Given the description of an element on the screen output the (x, y) to click on. 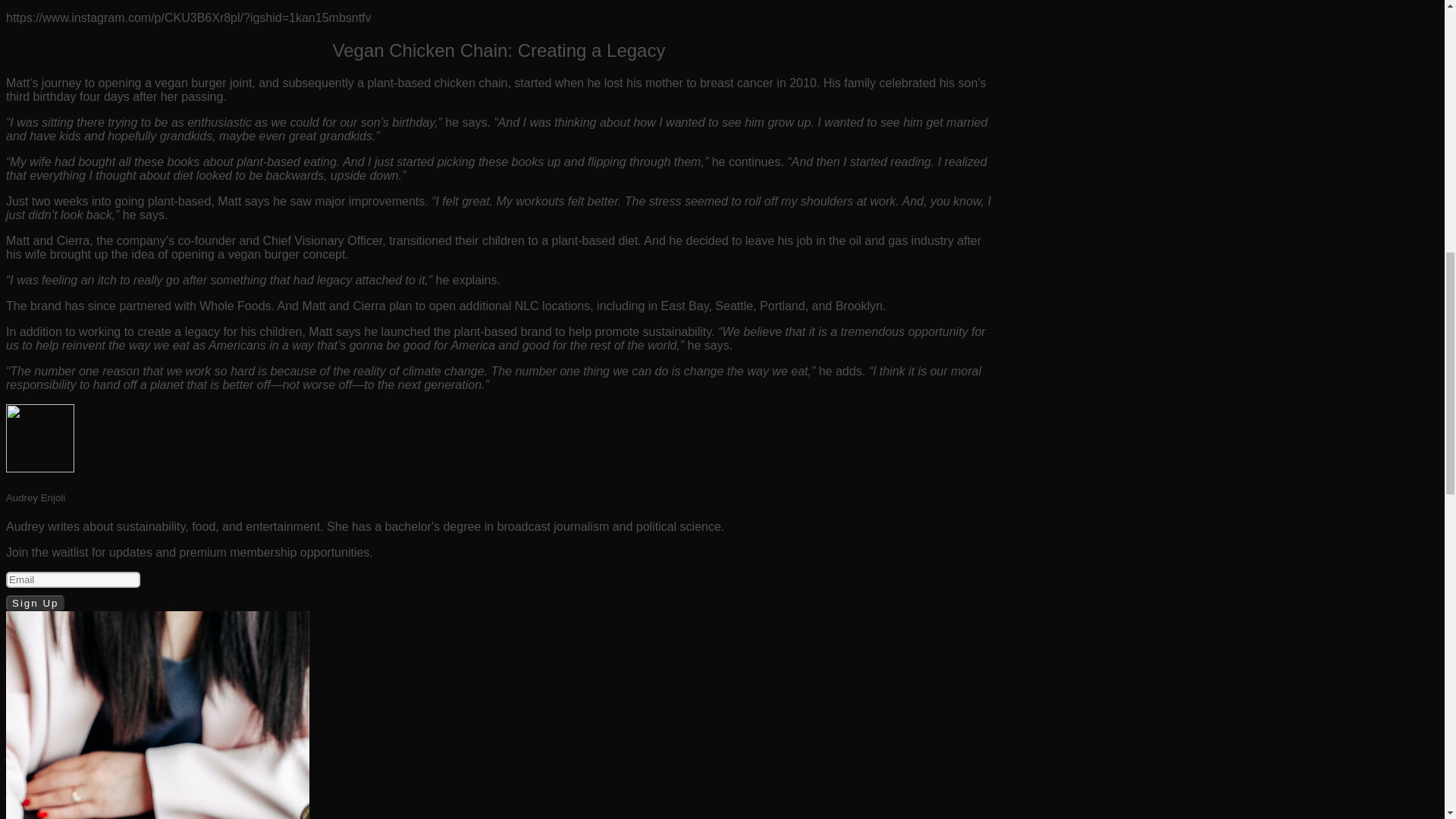
Sign Up (34, 602)
